Given the description of an element on the screen output the (x, y) to click on. 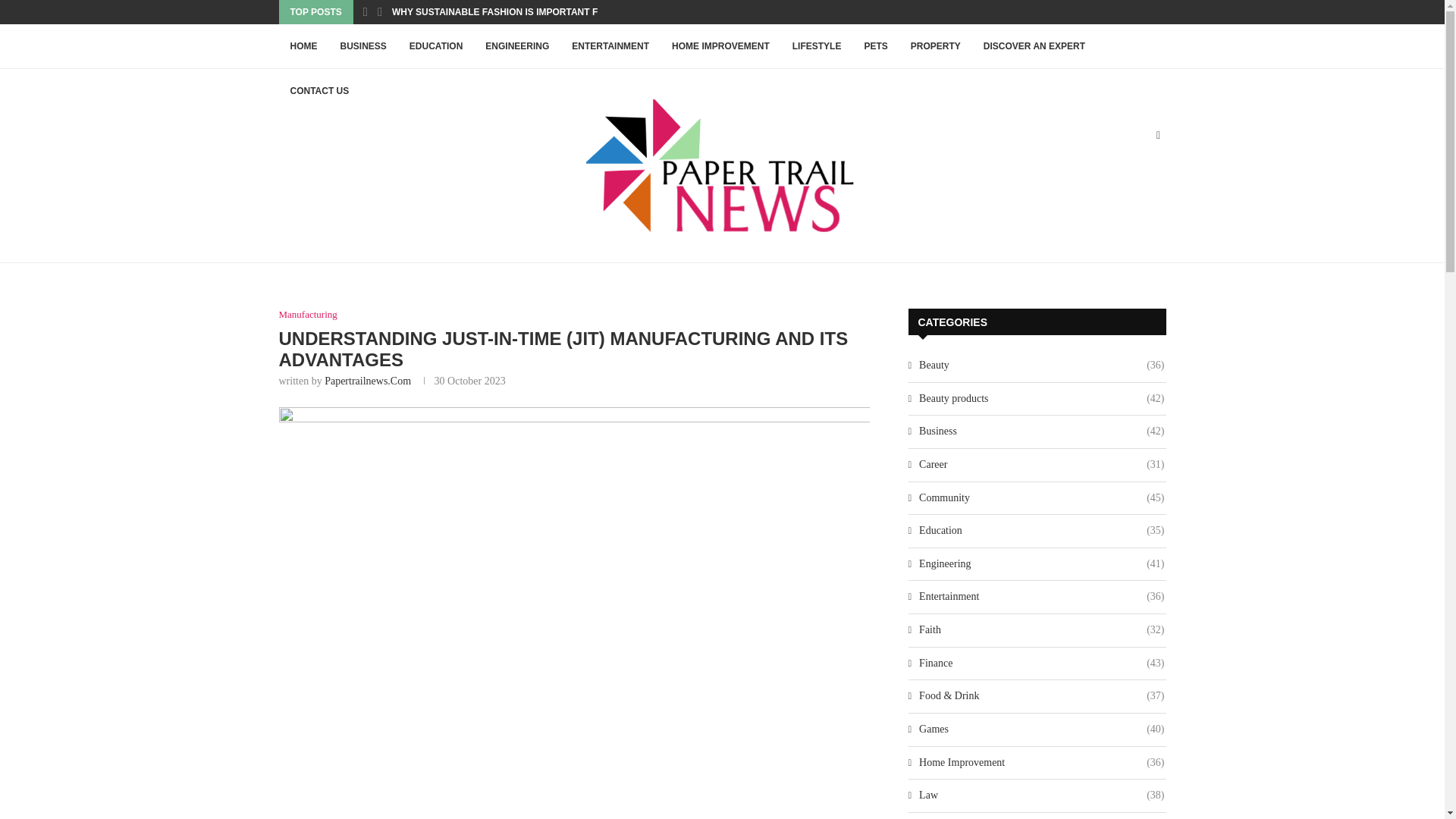
WHY SUSTAINABLE FASHION IS IMPORTANT FOR THE ENVIRONMENT (546, 12)
DISCOVER AN EXPERT (1034, 46)
ENTERTAINMENT (610, 46)
Manufacturing (308, 314)
CONTACT US (320, 90)
LIFESTYLE (816, 46)
ENGINEERING (517, 46)
Papertrailnews.Com (367, 380)
EDUCATION (435, 46)
PROPERTY (935, 46)
HOME (304, 46)
BUSINESS (363, 46)
HOME IMPROVEMENT (720, 46)
PETS (874, 46)
